Given the description of an element on the screen output the (x, y) to click on. 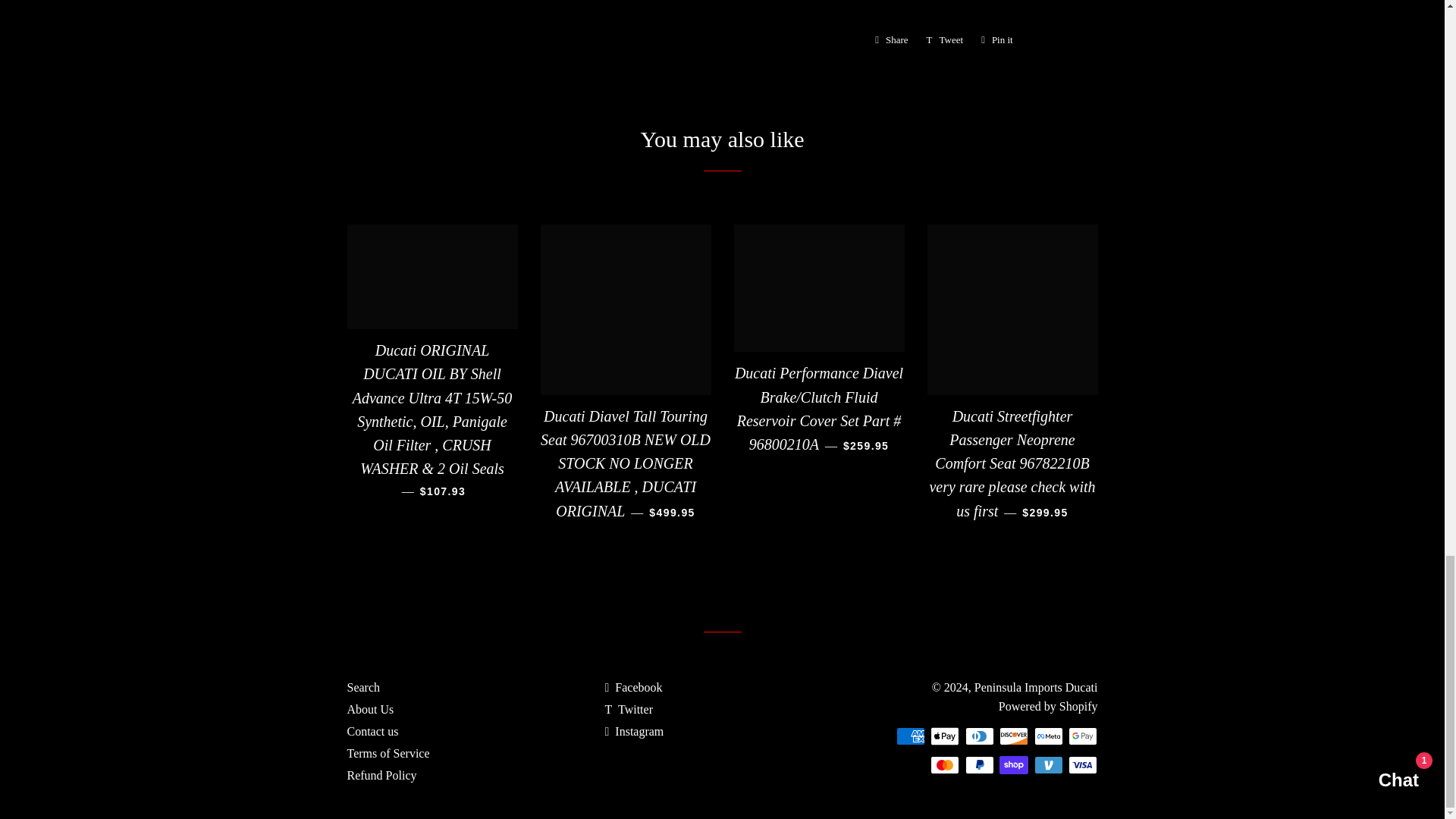
Pin on Pinterest (997, 39)
Visa (1082, 764)
Tweet on Twitter (944, 39)
Google Pay (1082, 736)
Discover (1012, 736)
Venmo (1047, 764)
Peninsula Imports Ducati on Facebook (633, 686)
Peninsula Imports Ducati on Instagram (633, 730)
Shop Pay (891, 39)
Apple Pay (1012, 764)
Peninsula Imports Ducati on Twitter (944, 736)
Share on Facebook (628, 708)
Meta Pay (891, 39)
